Given the description of an element on the screen output the (x, y) to click on. 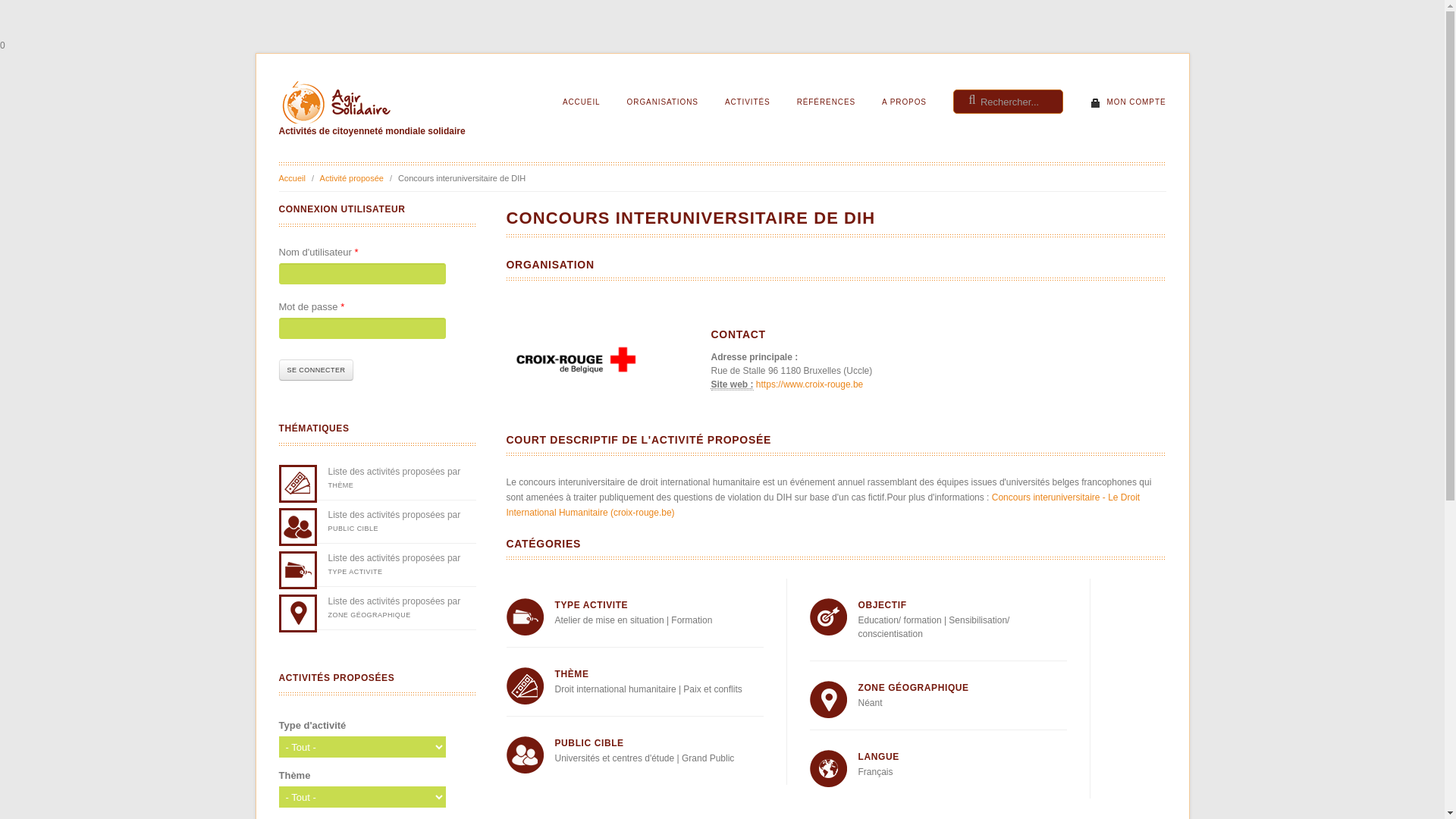
Rechercher Element type: text (1101, 138)
https://www.croix-rouge.be Element type: text (809, 384)
MON COMPTE Element type: text (1127, 102)
A PROPOS Element type: text (903, 102)
ACCUEIL Element type: text (581, 102)
Accueil Element type: text (292, 177)
Se connecter Element type: text (316, 369)
ORGANISATIONS Element type: text (662, 102)
RECHERCHER Element type: text (1096, 127)
